Given the description of an element on the screen output the (x, y) to click on. 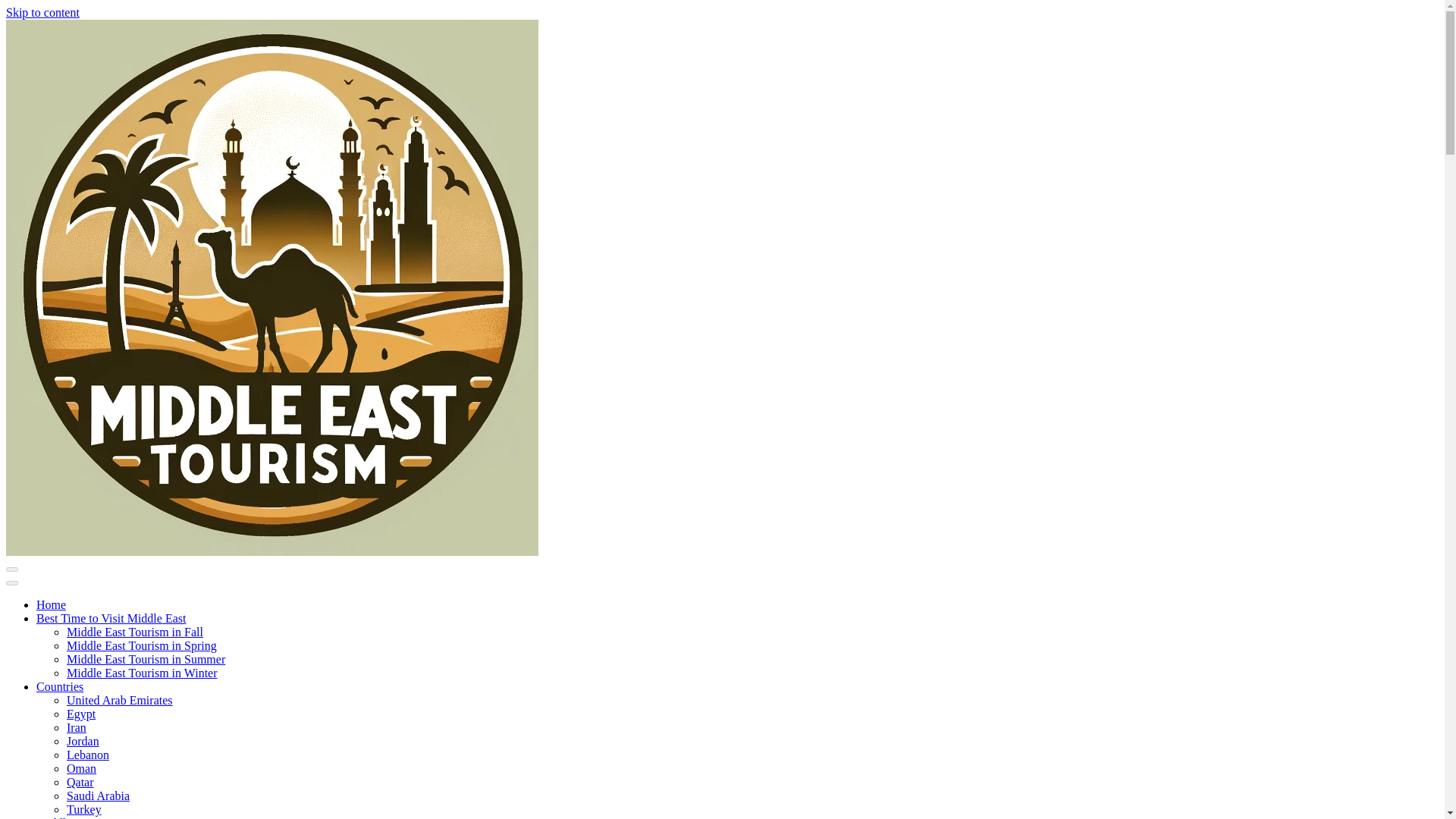
United Arab Emirates (119, 699)
Middle East Tourism in Spring (141, 645)
Oman (81, 768)
Iran (75, 727)
Turkey (83, 809)
Skip to content (42, 11)
Qatar (80, 781)
Home (50, 604)
Middle East Tourism in Summer (145, 658)
Middle East Tourism in Fall (134, 631)
Middle East Tourism in Winter (141, 672)
Saudi Arabia (97, 795)
Lebanon (87, 754)
Best Time to Visit Middle East (111, 617)
Countries (59, 686)
